Given the description of an element on the screen output the (x, y) to click on. 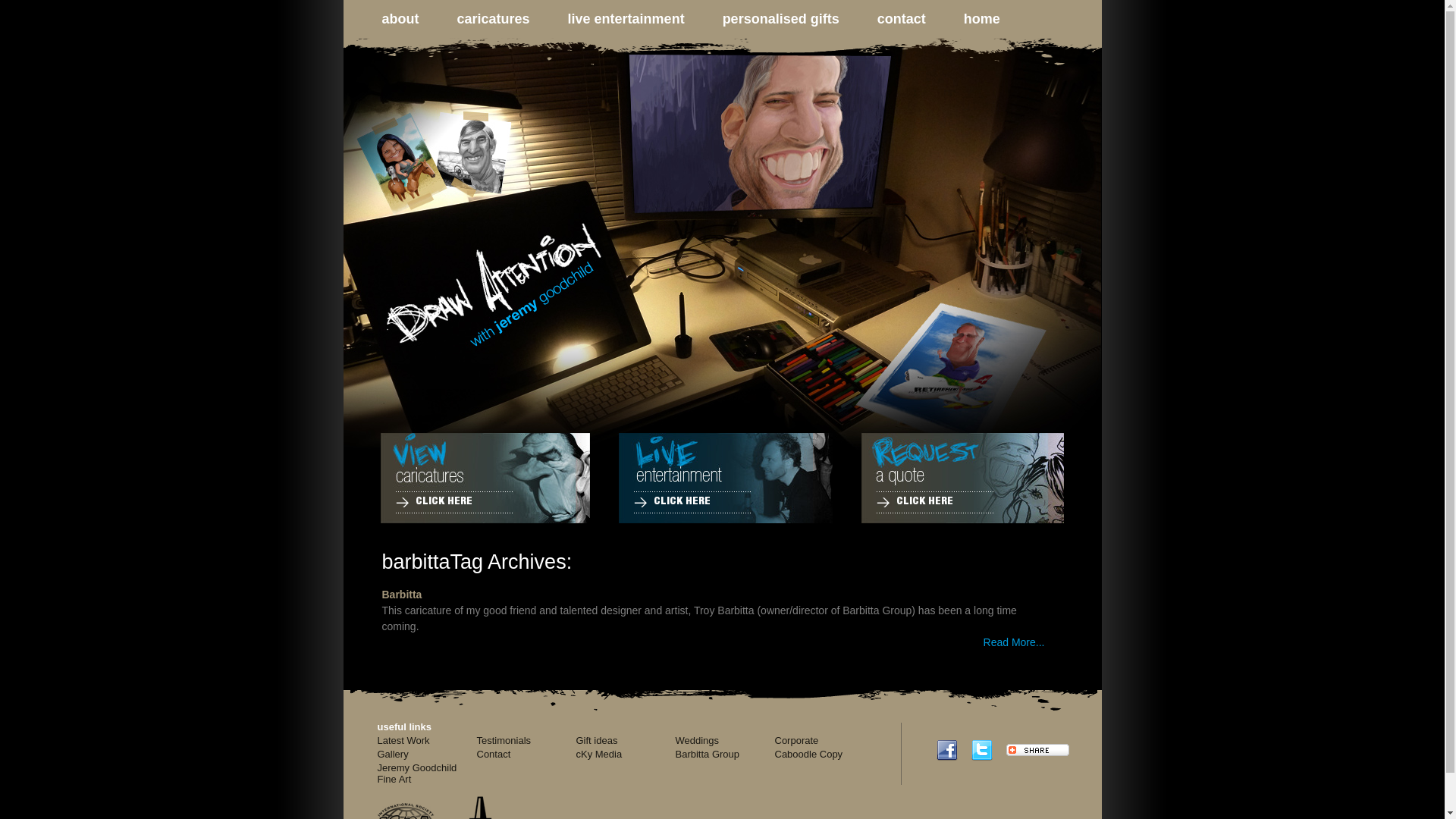
CLICK HERE Element type: text (433, 501)
Contact Element type: text (493, 753)
Jeremy Goodchild Fine Art Element type: text (417, 773)
Caboodle Copy Element type: text (809, 753)
Barbitta Element type: text (402, 594)
about Element type: text (382, 21)
caricatures Element type: text (476, 21)
CLICK HERE Element type: text (671, 501)
contact Element type: text (884, 21)
Corporate Element type: text (797, 740)
home Element type: text (964, 21)
Latest Work Element type: text (403, 740)
Weddings Element type: text (696, 740)
Gift ideas Element type: text (597, 740)
Gallery Element type: text (392, 753)
cKy Media Element type: text (599, 753)
live entertainment Element type: text (608, 21)
Barbitta Group Element type: text (706, 753)
Testimonials Element type: text (503, 740)
CLICK HERE Element type: text (914, 501)
personalised gifts Element type: text (763, 21)
Read More... Element type: text (1013, 642)
